Given the description of an element on the screen output the (x, y) to click on. 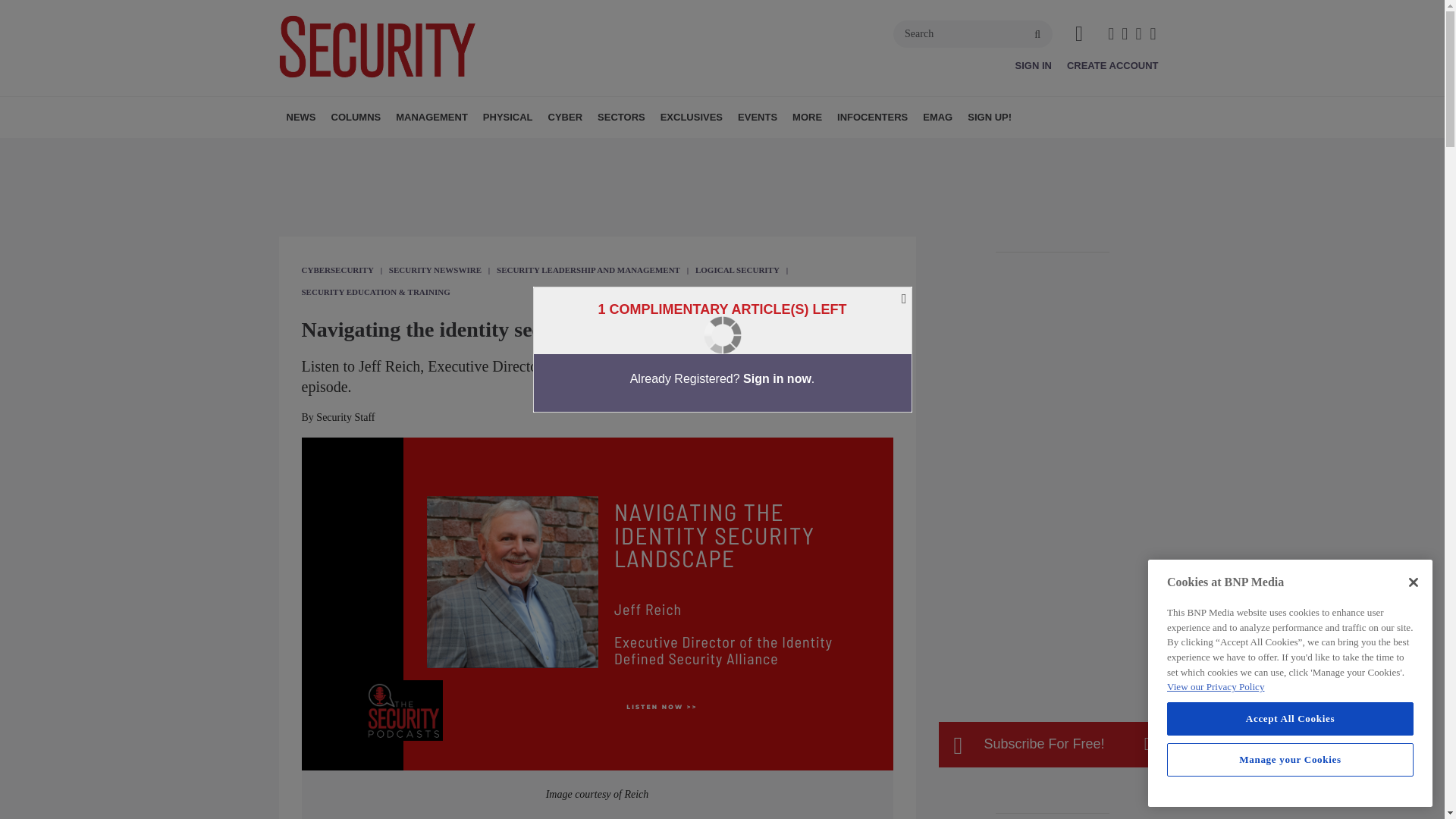
Search (972, 33)
Search (972, 33)
